Given the description of an element on the screen output the (x, y) to click on. 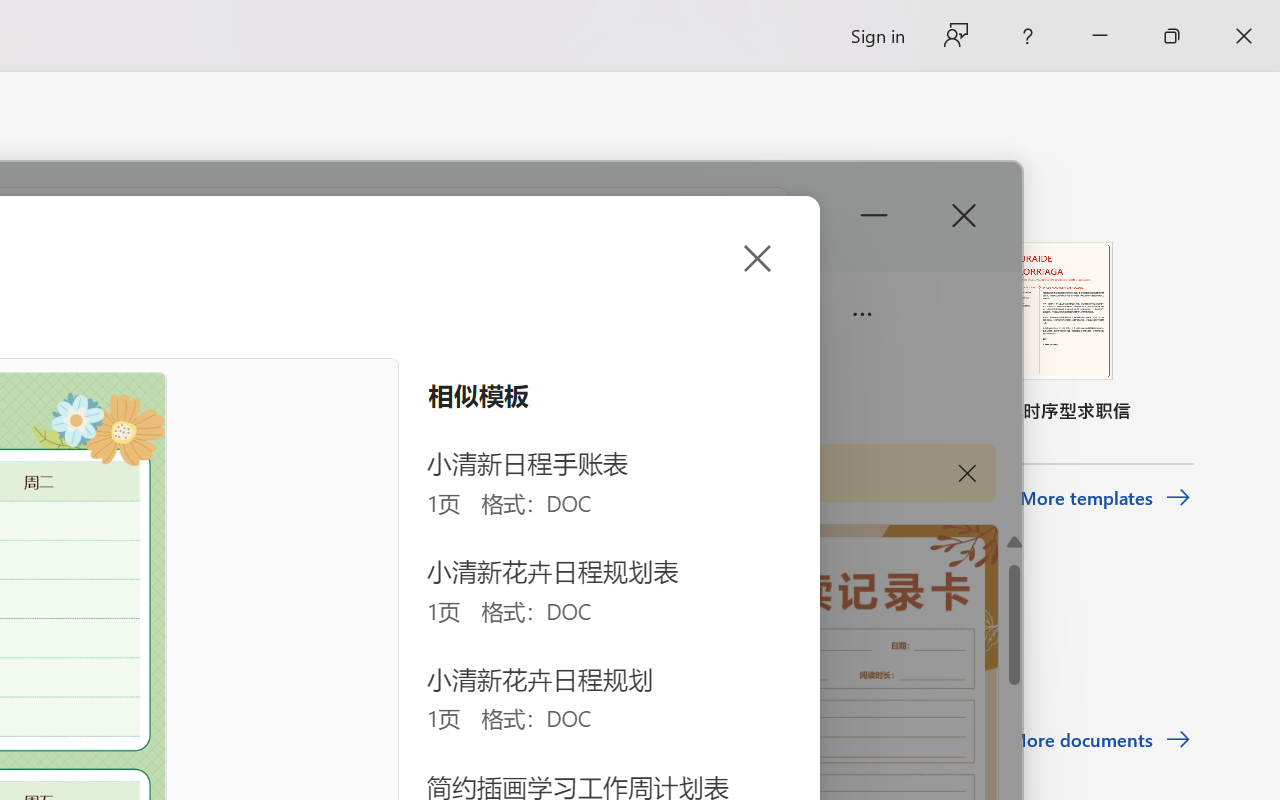
More templates (1105, 498)
More documents (1100, 740)
Sign in (875, 35)
